Given the description of an element on the screen output the (x, y) to click on. 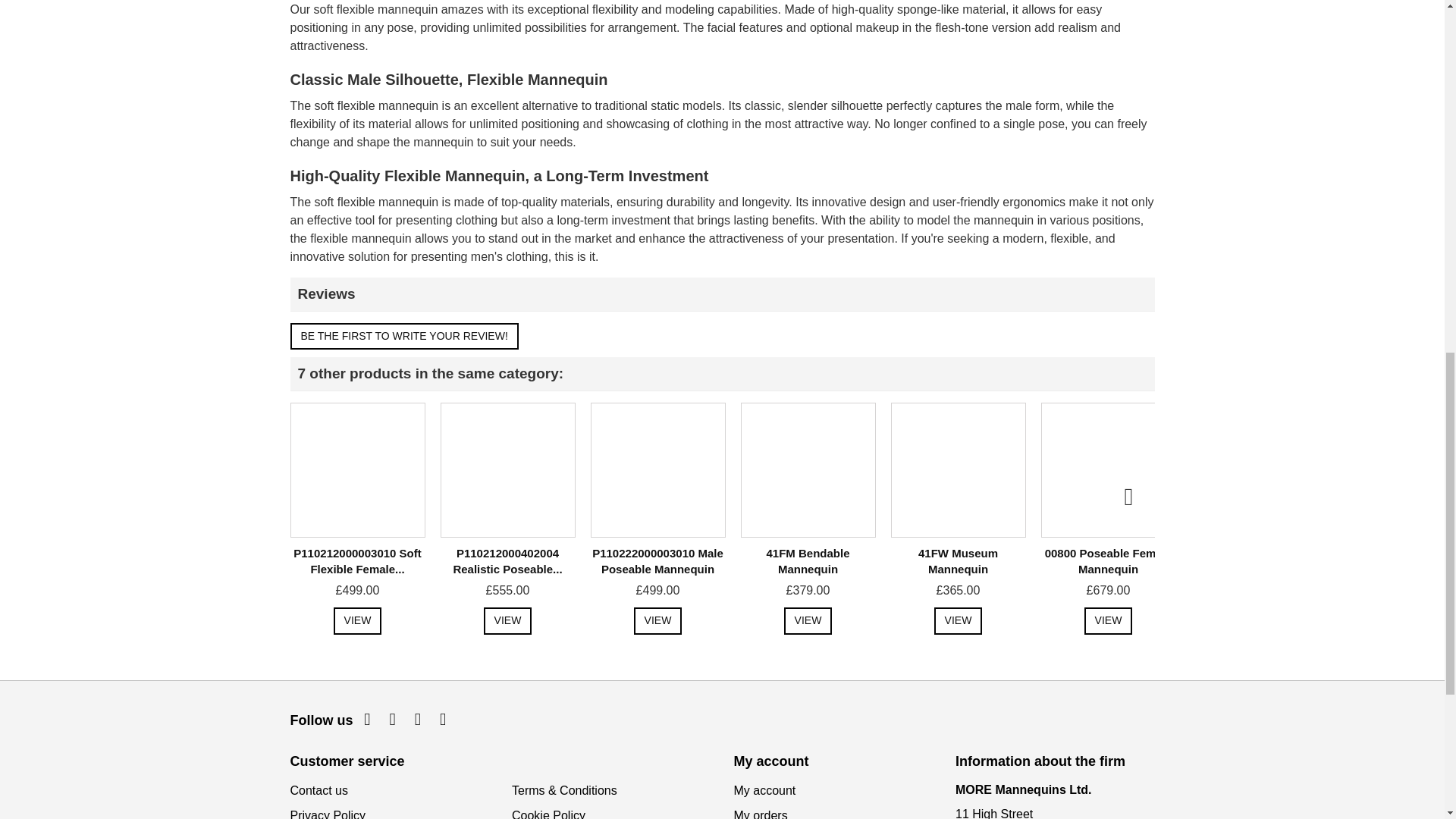
P110212000003010 Soft Flexible Female... (357, 561)
BE THE FIRST TO WRITE YOUR REVIEW! (403, 336)
P110212000402004 Realistic Poseable... (507, 561)
VIEW (357, 620)
VIEW (507, 620)
